Given the description of an element on the screen output the (x, y) to click on. 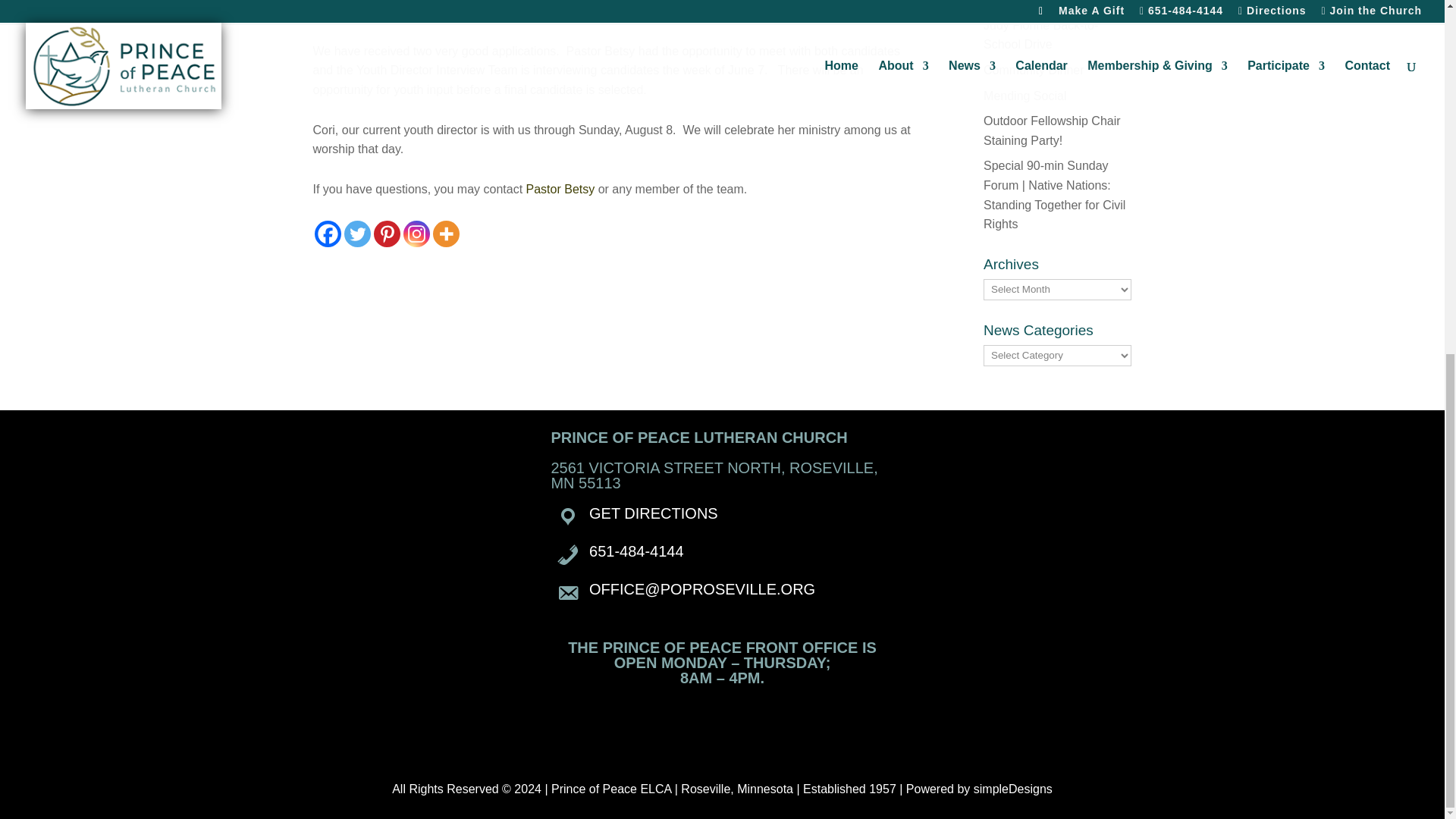
Twitter (357, 233)
More (445, 233)
Pinterest (385, 233)
Facebook (327, 233)
Instagram (416, 233)
